Given the description of an element on the screen output the (x, y) to click on. 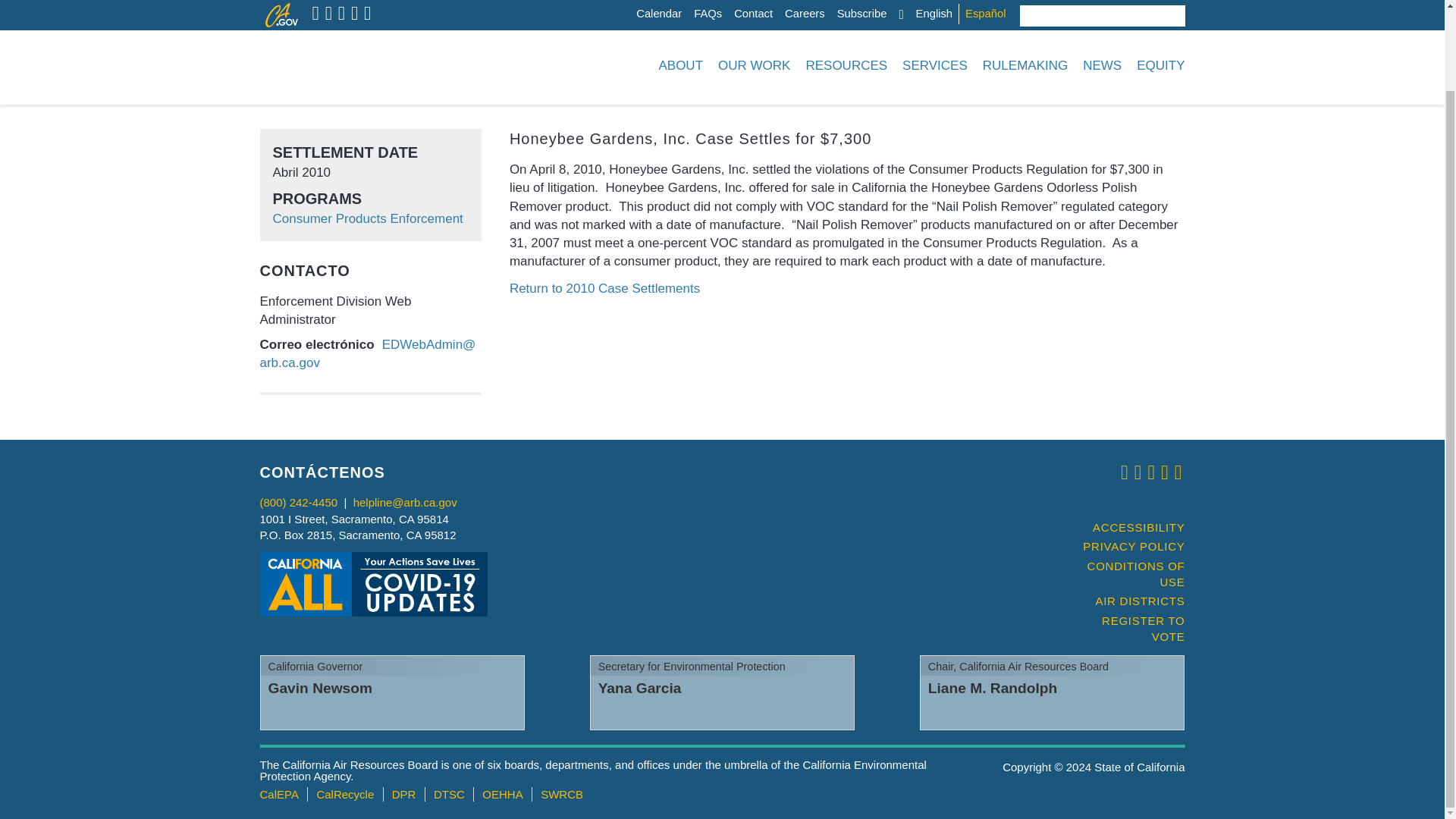
California online voter registration (1127, 628)
Consumer Products Enforcement (368, 218)
Return to 2010 Case Settlements (604, 288)
BACK TO CASE SETTLEMENTS (1091, 93)
California Environmental Protection Agency (278, 794)
